Given the description of an element on the screen output the (x, y) to click on. 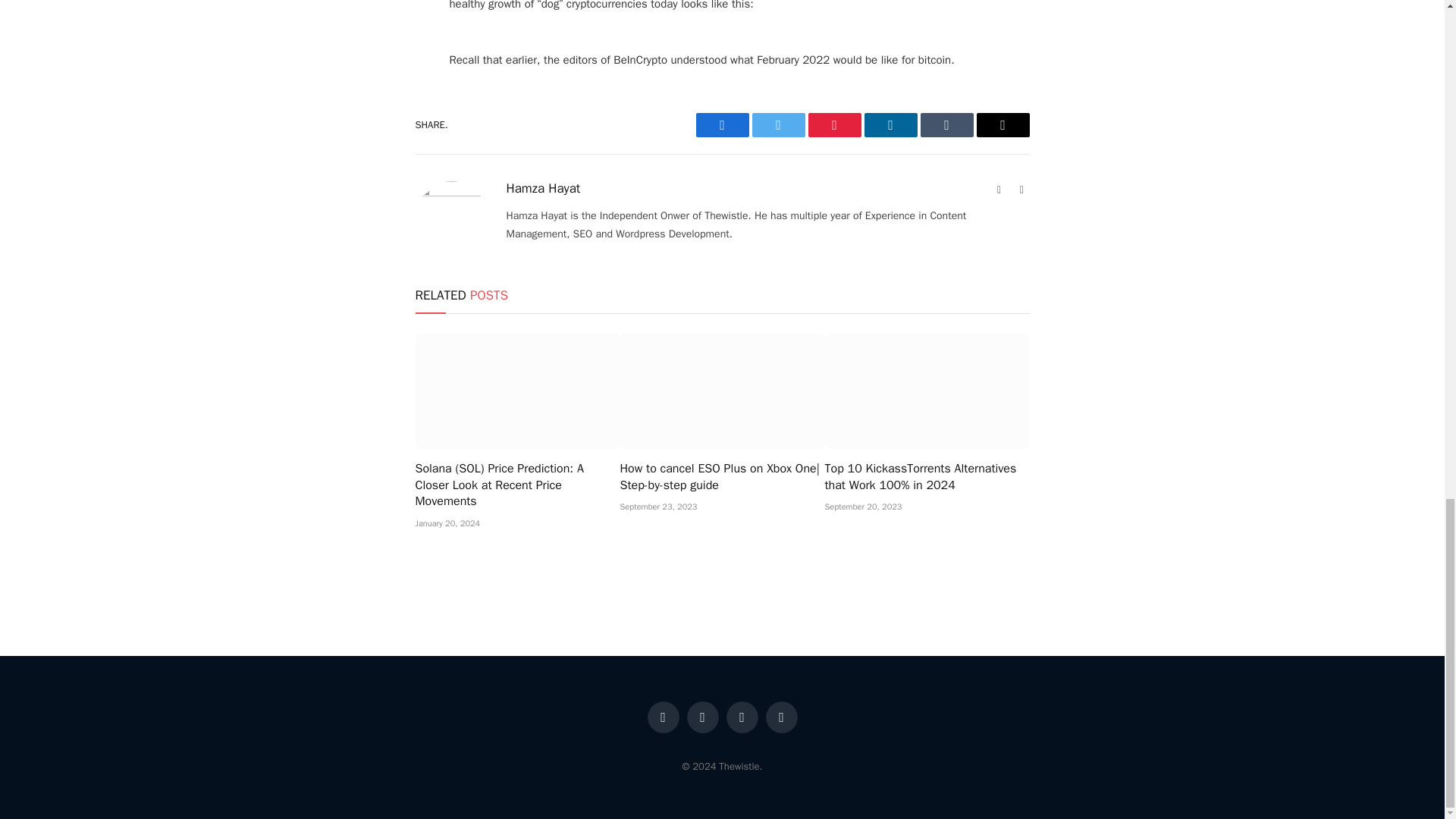
LinkedIn (890, 125)
Twitter (778, 125)
Facebook (722, 125)
Pinterest (834, 125)
